Given the description of an element on the screen output the (x, y) to click on. 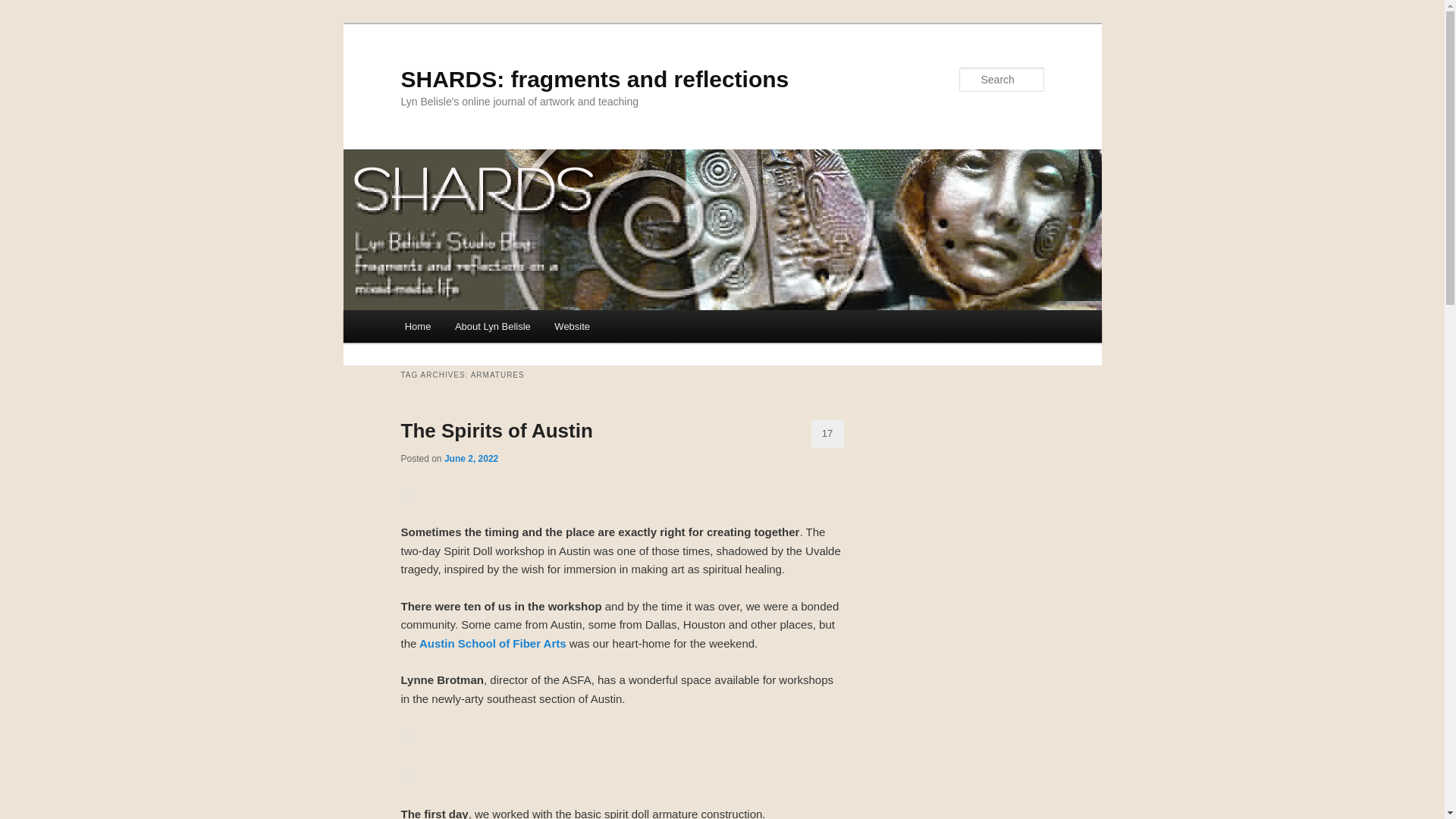
2:32 pm (470, 458)
Website (572, 326)
The Spirits of Austin (496, 430)
Home (417, 326)
Search (24, 8)
SHARDS: fragments and reflections (594, 78)
17 (827, 433)
June 2, 2022 (470, 458)
Austin School of Fiber Arts (491, 643)
